Given the description of an element on the screen output the (x, y) to click on. 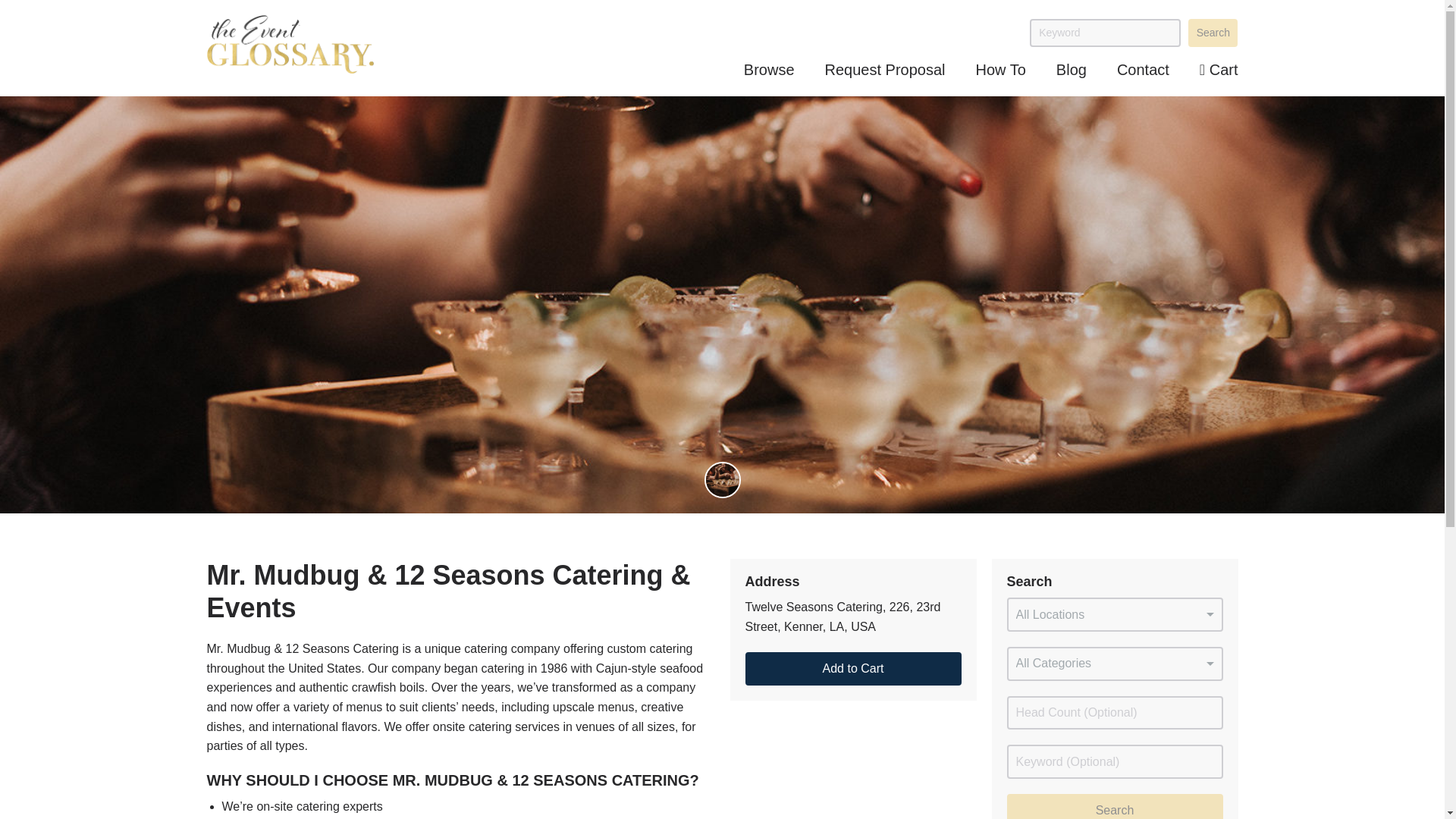
Browse (769, 69)
Add to Cart (852, 668)
How To (1000, 69)
Cart (1219, 69)
Request Proposal (884, 69)
Search (1115, 806)
Search (1212, 31)
Contact (1142, 69)
Blog (1071, 69)
